Given the description of an element on the screen output the (x, y) to click on. 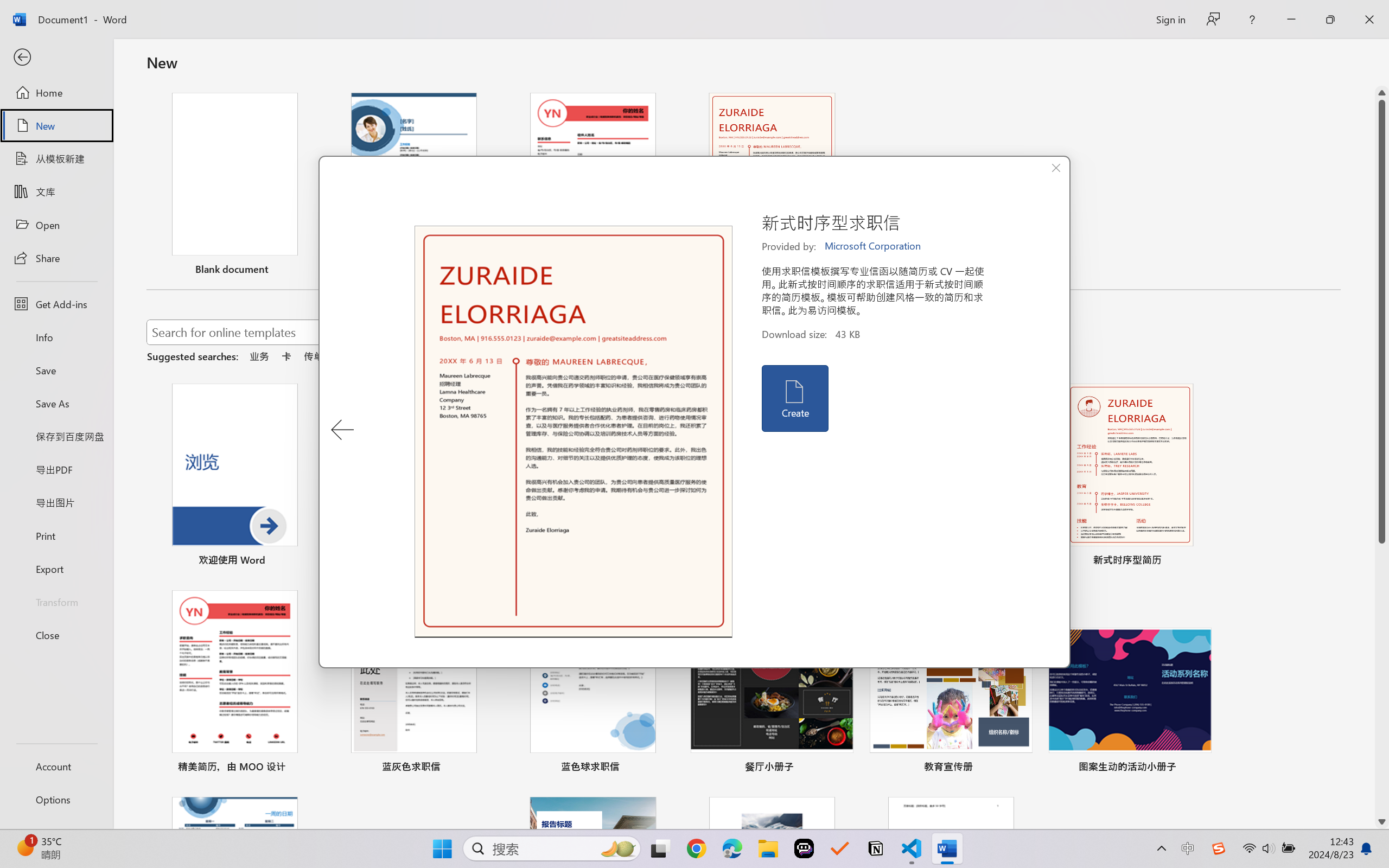
Start searching (638, 332)
Unpin from list (842, 270)
New (56, 125)
Page down (1382, 679)
Line up (1382, 92)
Create (794, 398)
Get Add-ins (56, 303)
